Given the description of an element on the screen output the (x, y) to click on. 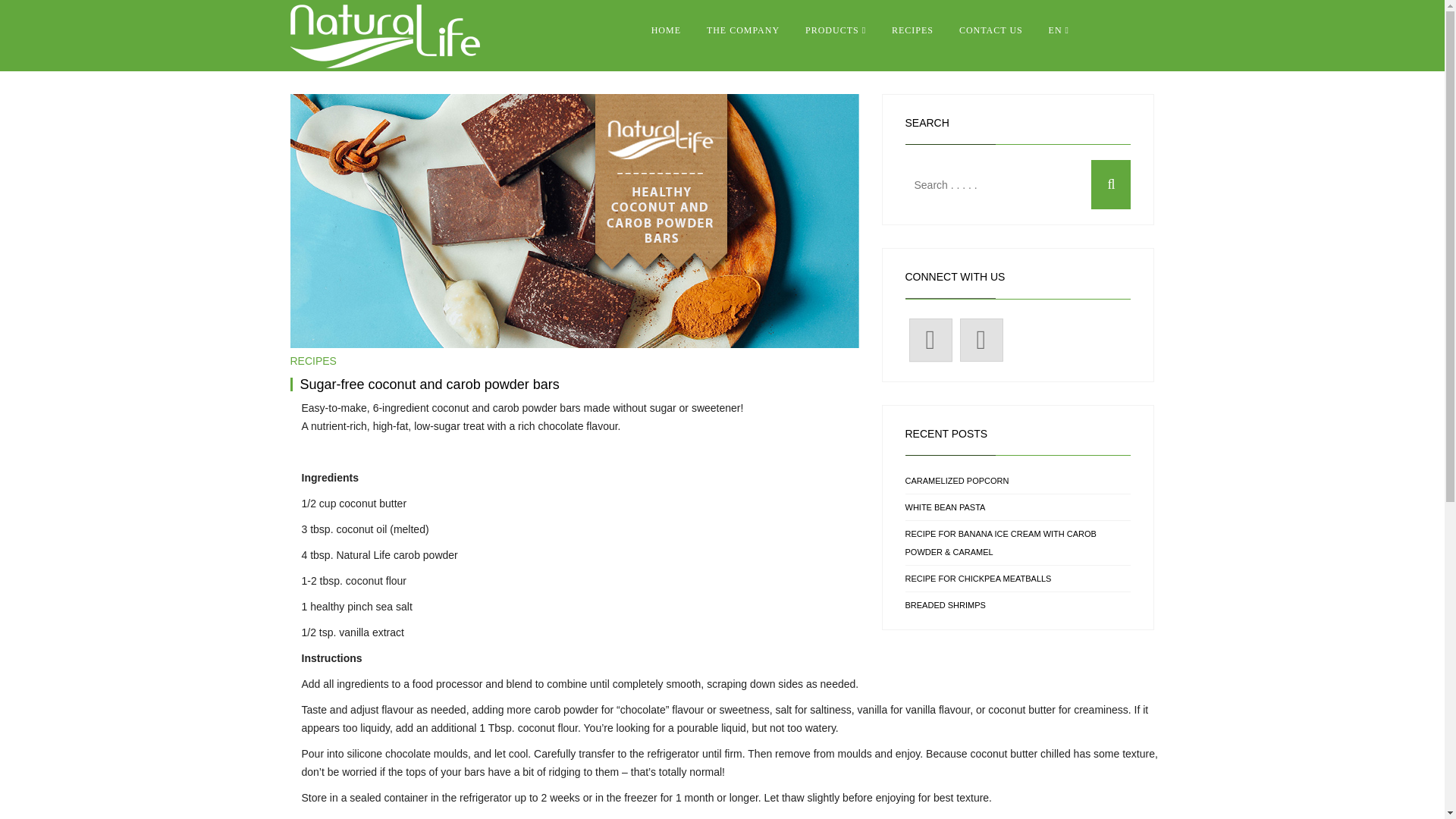
CONTACT US (990, 30)
RECIPES (312, 360)
THE COMPANY (742, 30)
PRODUCTS (835, 30)
Sugar-free coconut and carob powder bars (429, 384)
RECIPES (912, 30)
